Given the description of an element on the screen output the (x, y) to click on. 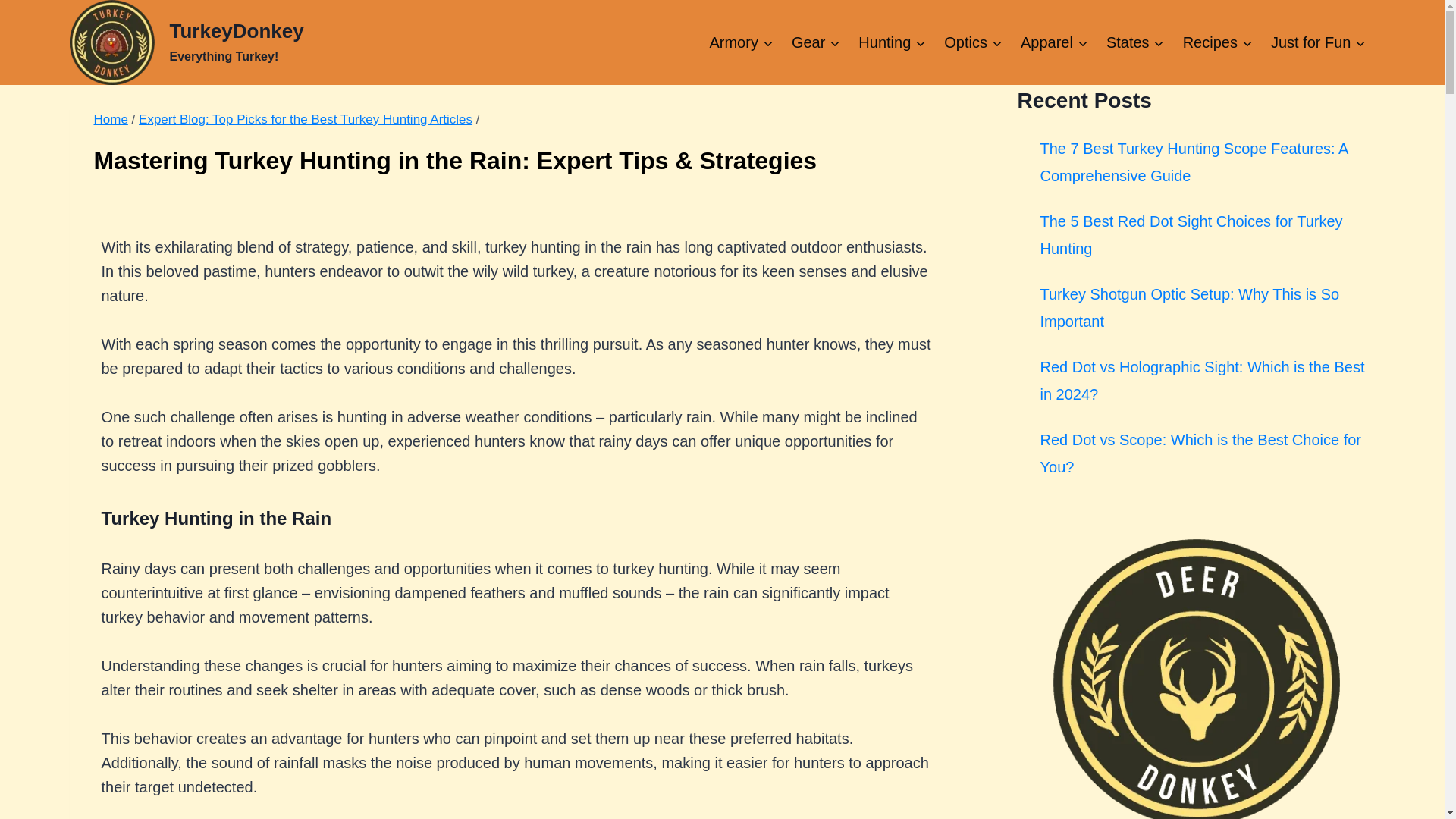
Hunting (891, 42)
Optics (972, 42)
Gear (815, 42)
Apparel (1054, 42)
Armory (186, 42)
